Given the description of an element on the screen output the (x, y) to click on. 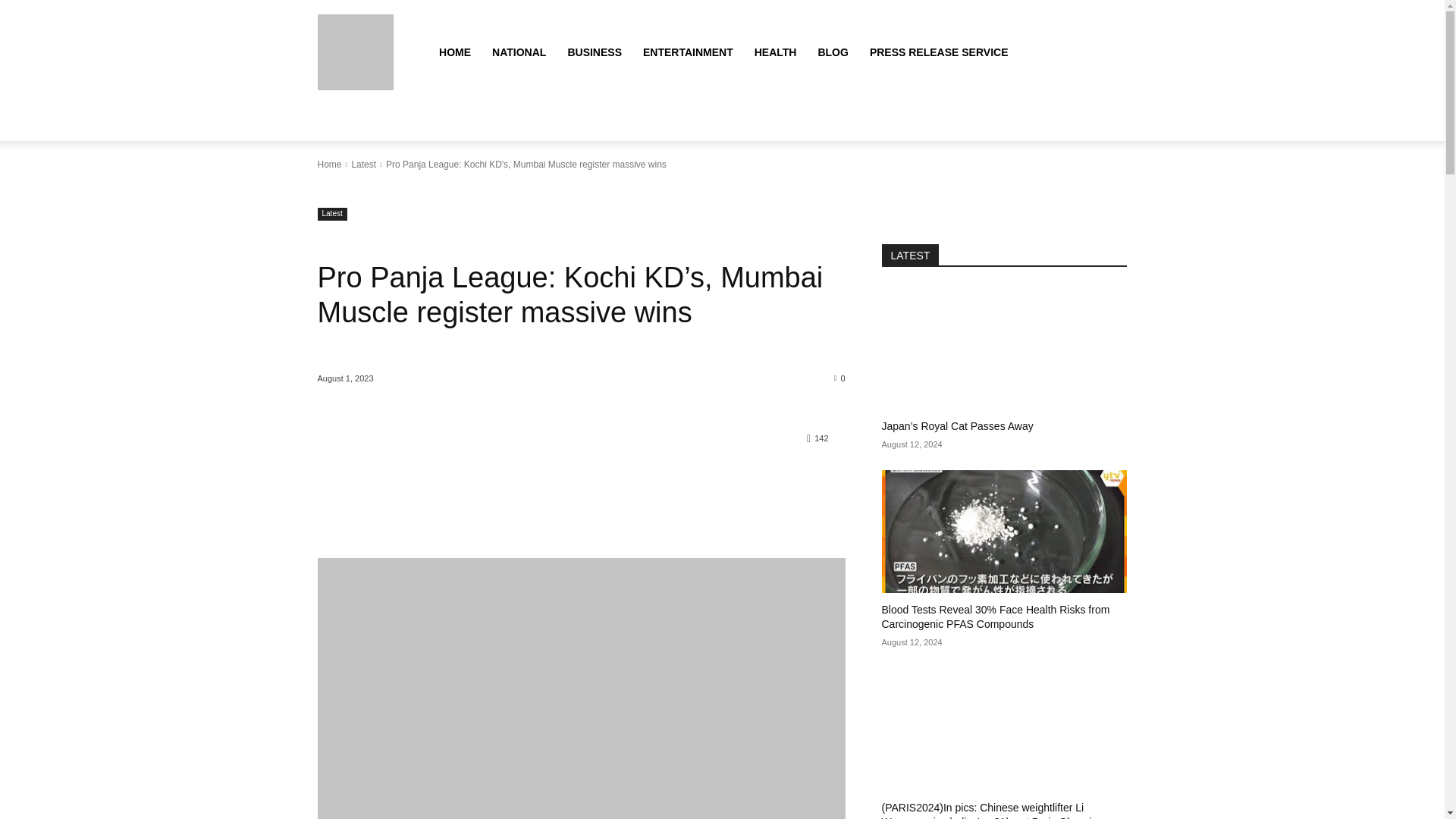
HEALTH (776, 52)
Latest (362, 163)
BLOG (832, 52)
Home (328, 163)
0 (839, 377)
View all posts in Latest (362, 163)
BUSINESS (593, 52)
JapanNews24 - News On Japan in English (355, 52)
PRESS RELEASE SERVICE (939, 52)
ENTERTAINMENT (687, 52)
